Given the description of an element on the screen output the (x, y) to click on. 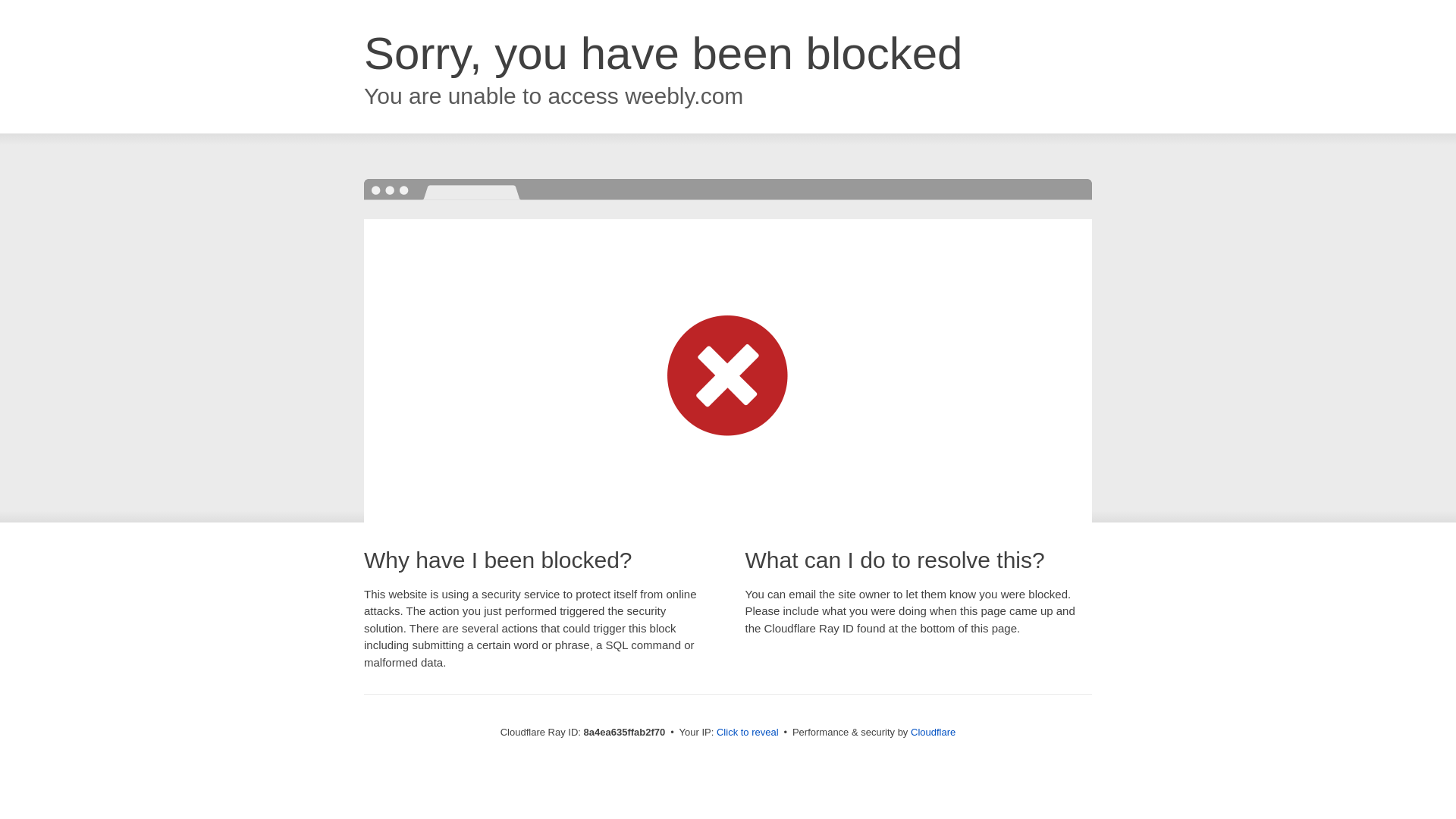
Click to reveal (747, 732)
Cloudflare (933, 731)
